Given the description of an element on the screen output the (x, y) to click on. 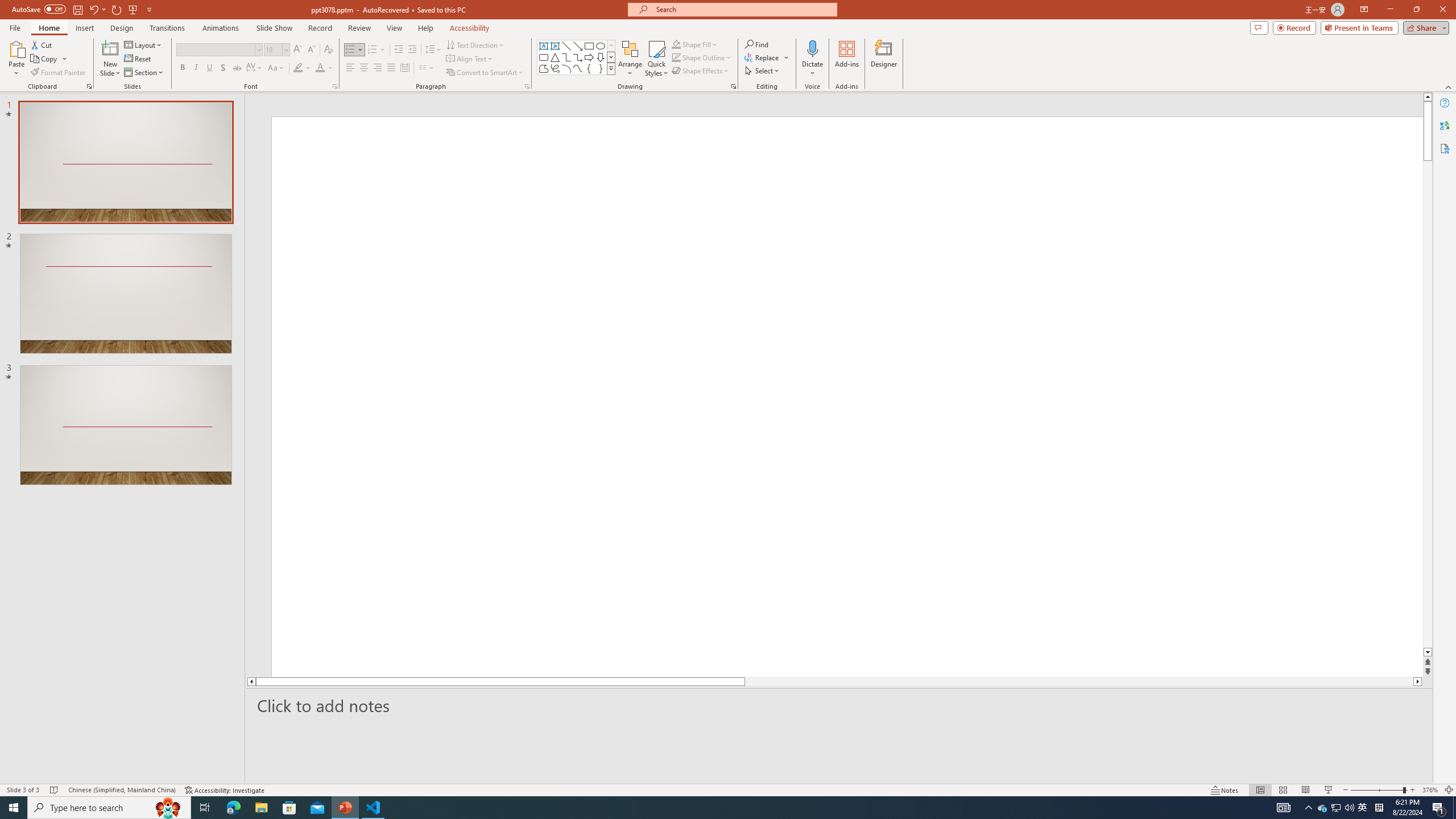
An abstract genetic concept (834, 395)
